Given the description of an element on the screen output the (x, y) to click on. 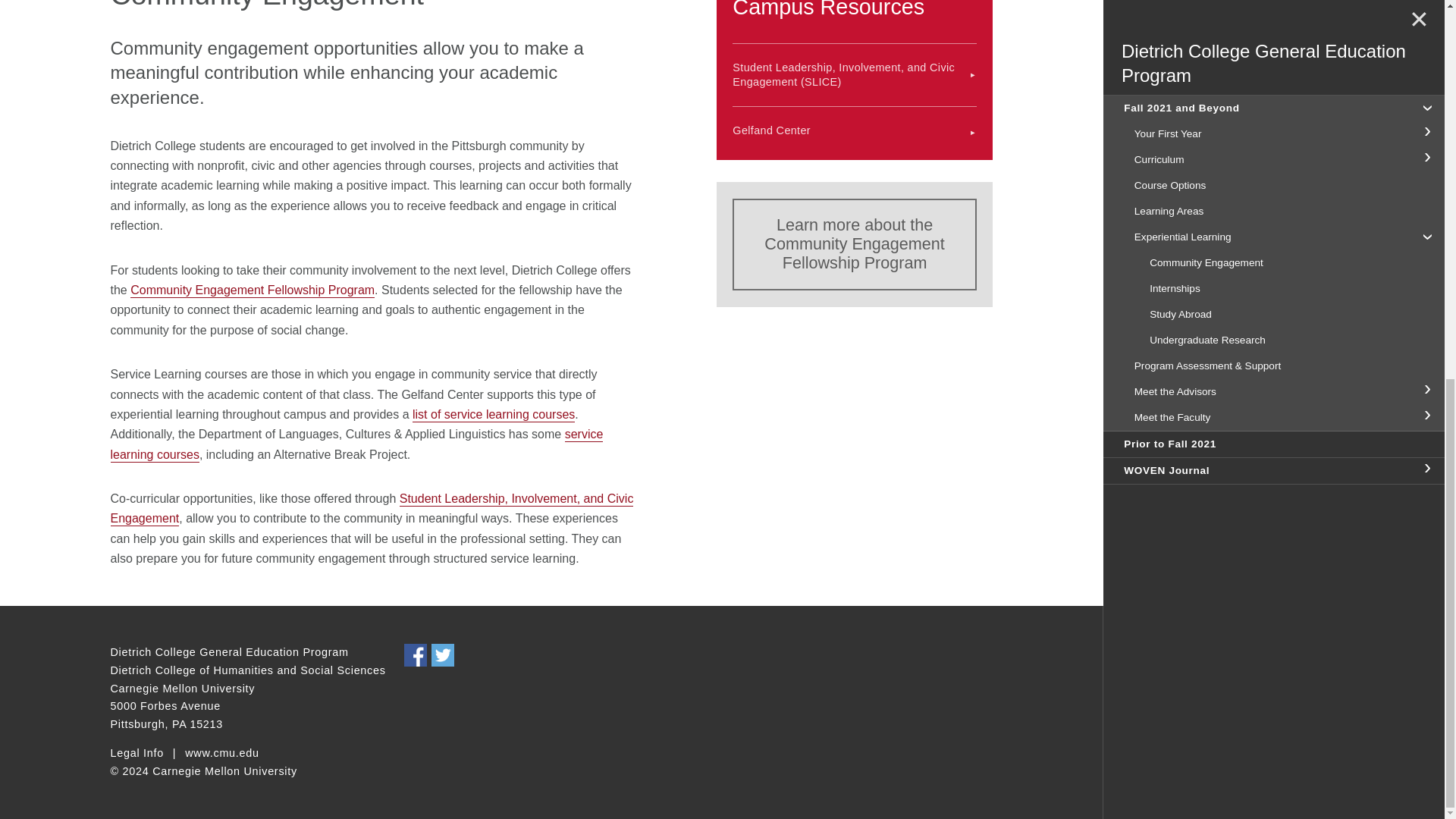
Gelfand Center (854, 130)
list of service learning courses (493, 414)
Community Engagement Fellowship Program (252, 290)
www.cmu.edu (221, 753)
Legal Info (136, 753)
CMU on Facebook (415, 654)
Student Leadership, Involvement, and Civic Engagement (371, 509)
Learn more about the Community Engagement Fellowship Program (854, 245)
service learning courses (357, 444)
CMU on Twitter (442, 654)
